Given the description of an element on the screen output the (x, y) to click on. 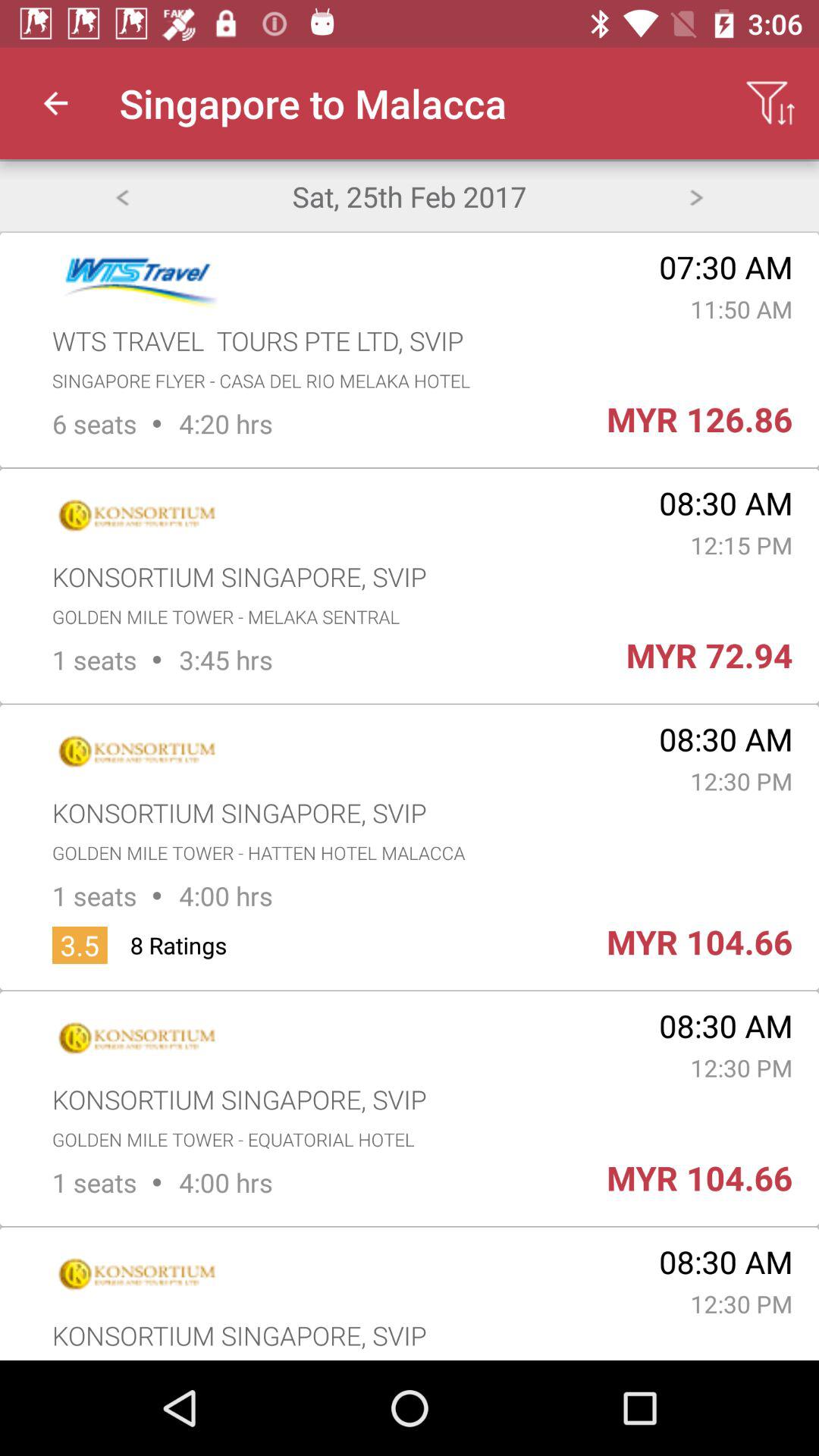
click the app to the left of singapore to malacca icon (55, 103)
